Given the description of an element on the screen output the (x, y) to click on. 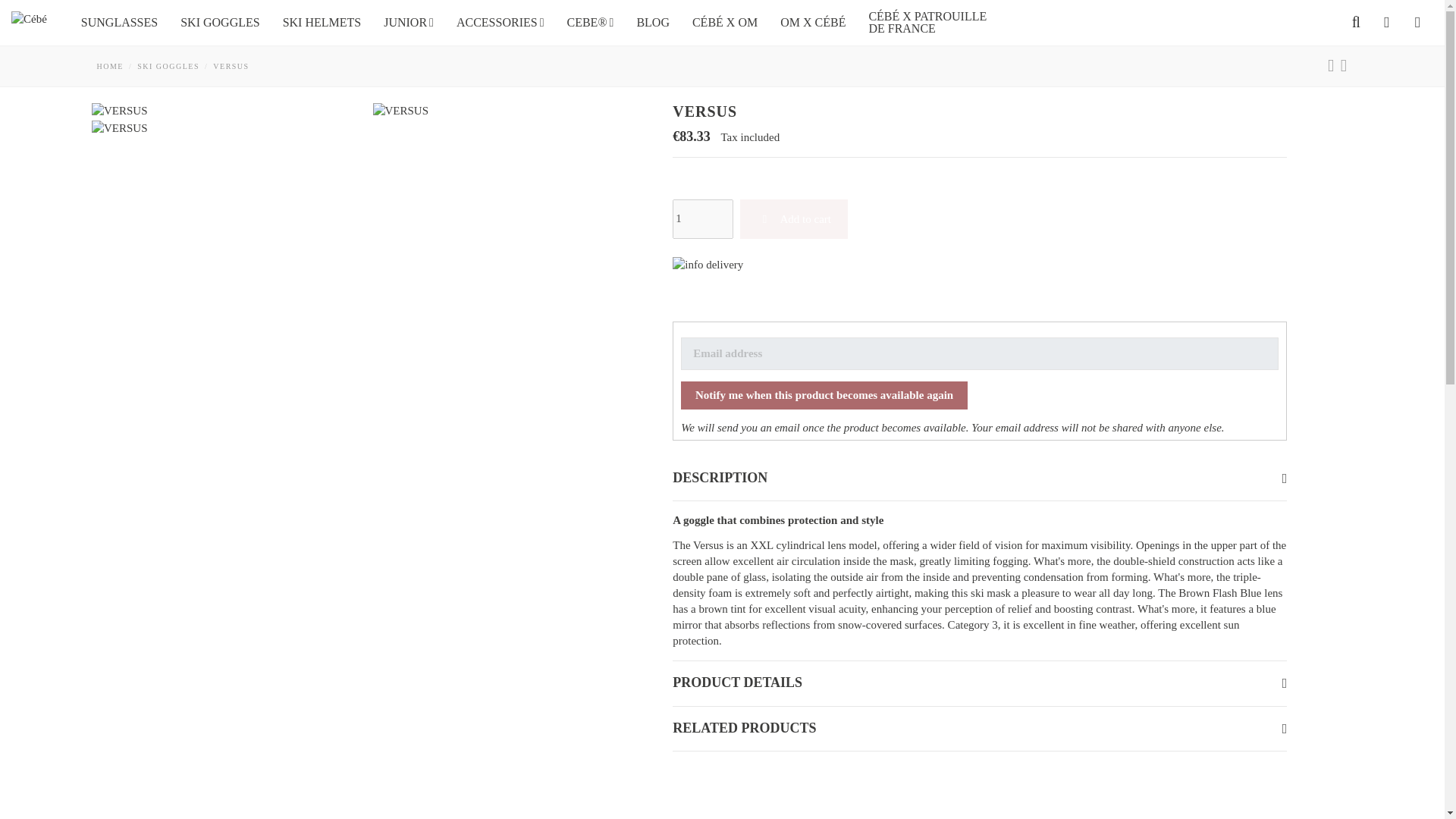
1 (702, 219)
BLOG (652, 22)
ACCESSORIES (500, 22)
SKI GOGGLES (219, 22)
JUNIOR (408, 22)
VERSUS (119, 128)
SKI HELMETS (321, 22)
VERSUS (400, 110)
SUNGLASSES (118, 22)
Log in to your customer account (1386, 22)
VERSUS (119, 110)
